Given the description of an element on the screen output the (x, y) to click on. 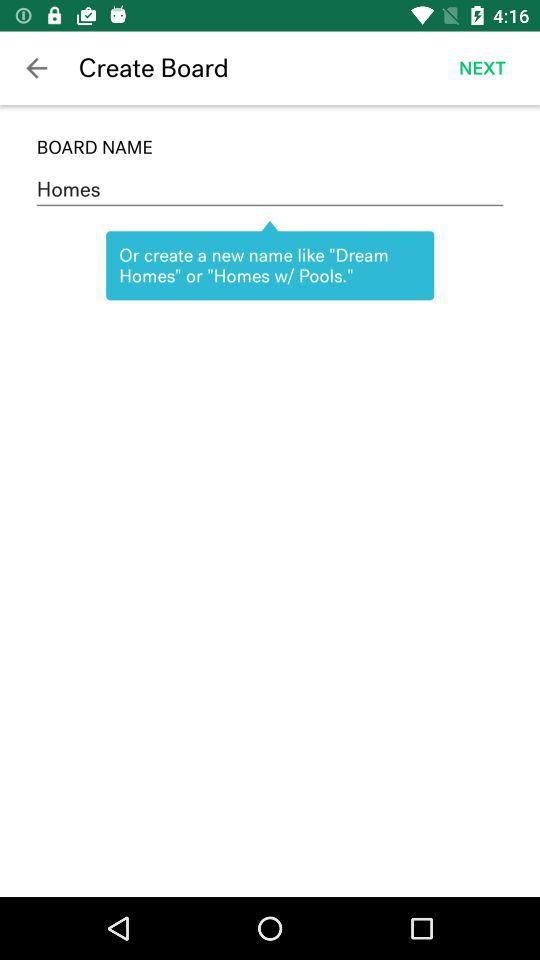
choose the board name (269, 147)
